Given the description of an element on the screen output the (x, y) to click on. 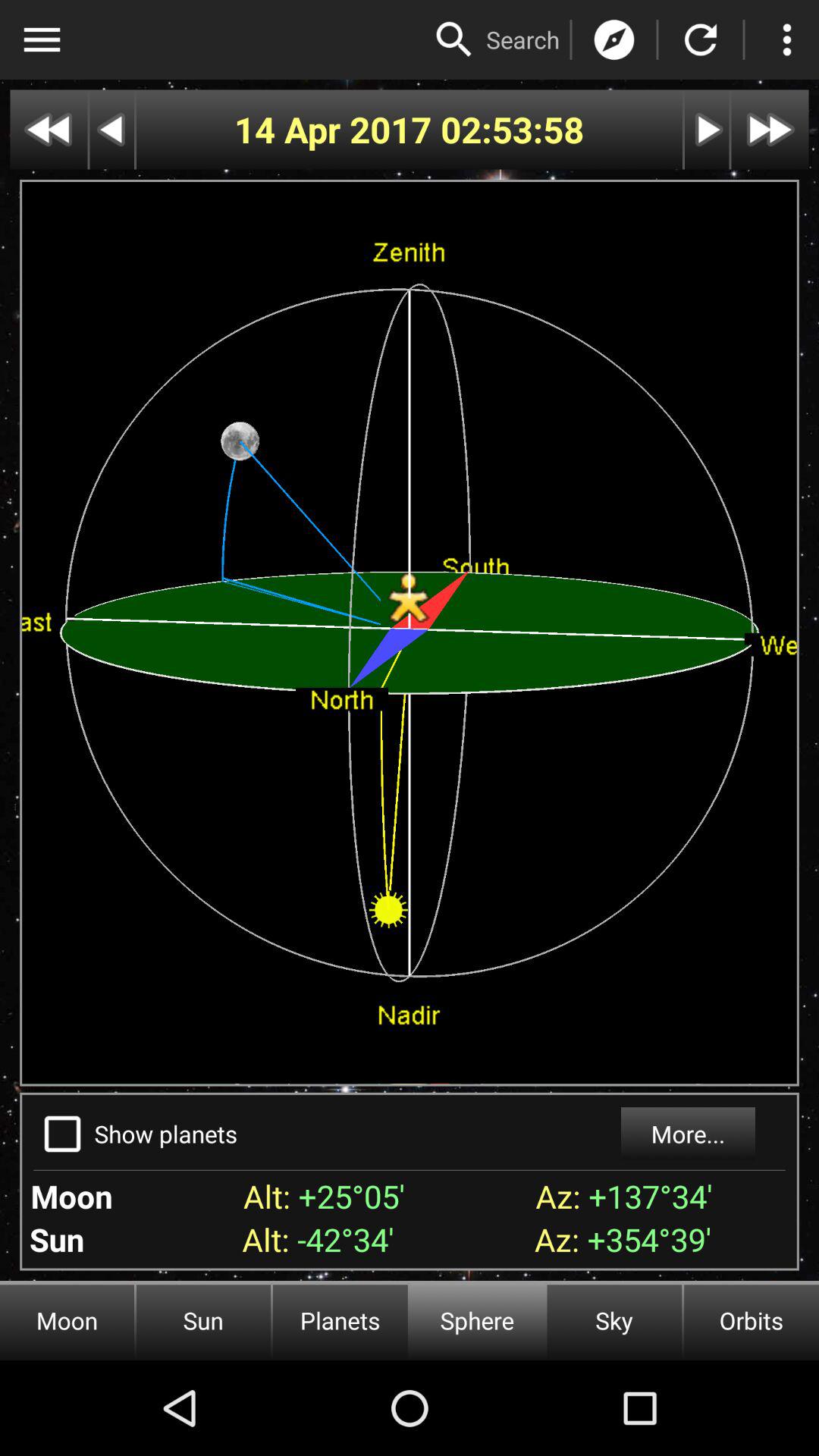
options menu (41, 39)
